Given the description of an element on the screen output the (x, y) to click on. 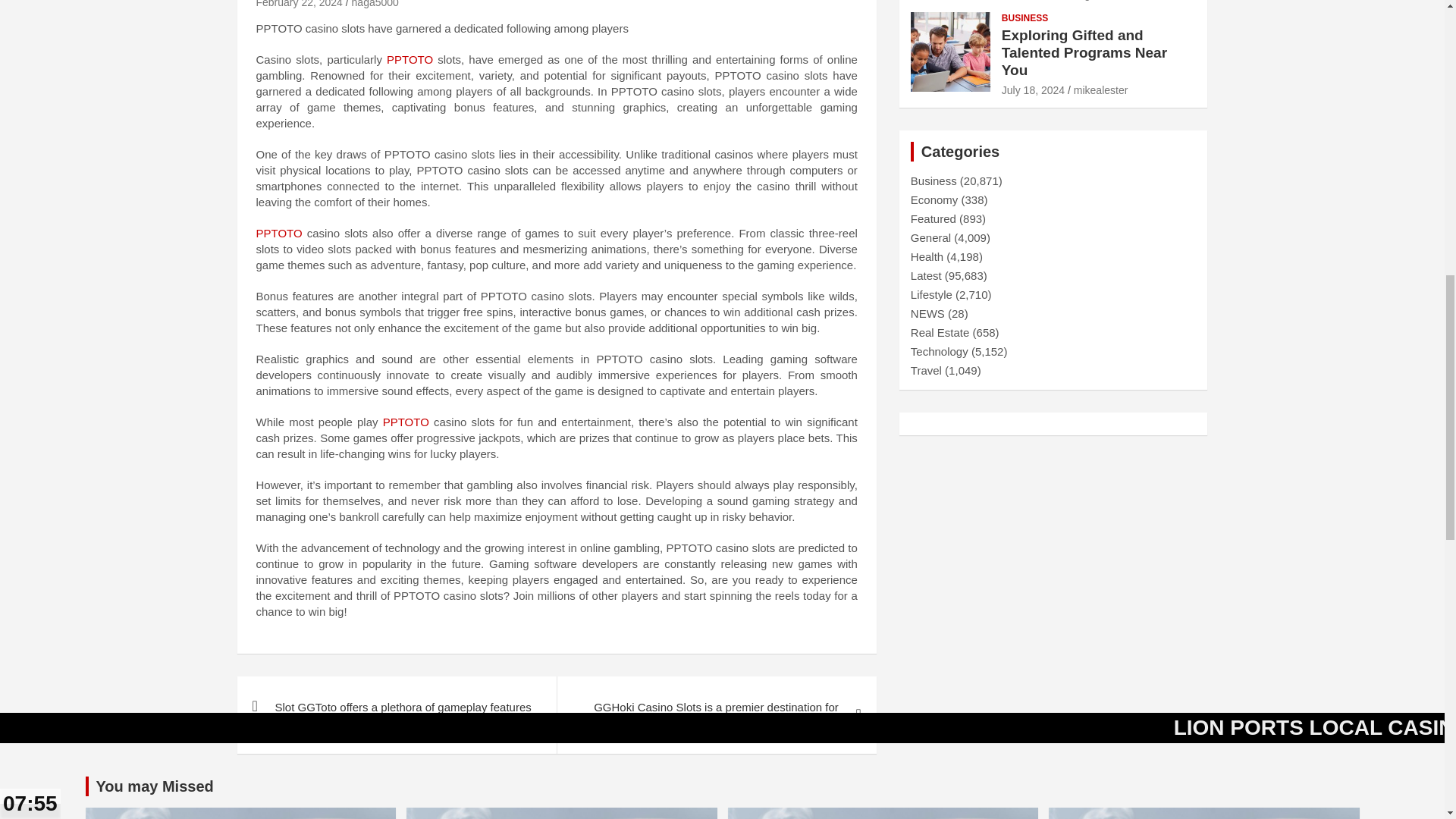
Slot GGToto offers a plethora of gameplay features (395, 706)
February 22, 2024 (299, 4)
PPTOTO (407, 421)
PPTOTO (281, 232)
Exploring Gifted and Talented Programs Near You (1032, 90)
naga5000 (375, 4)
PPTOTO (412, 59)
